Given the description of an element on the screen output the (x, y) to click on. 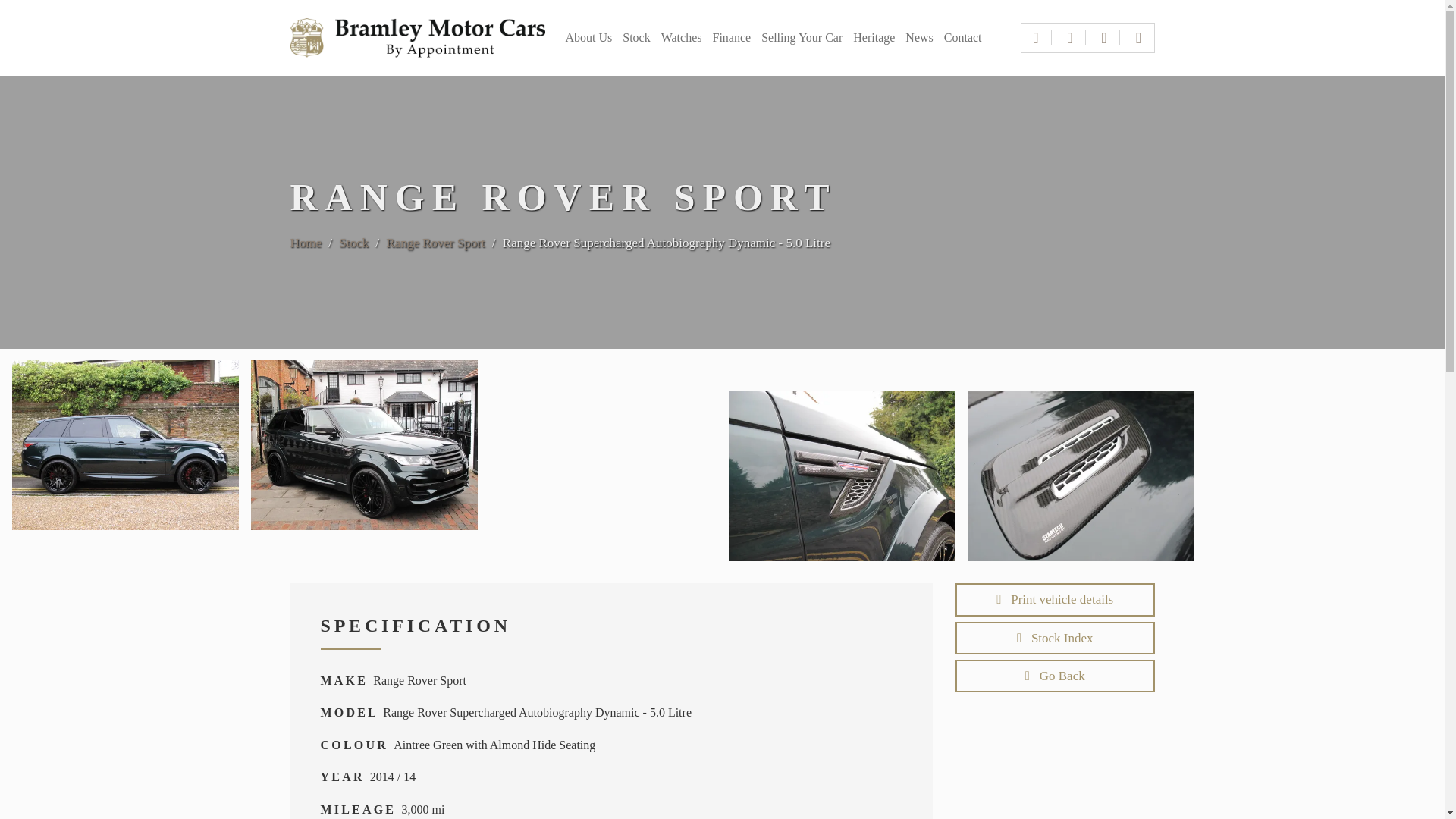
Heritage (874, 39)
Selling Your Car (802, 39)
Watches (681, 39)
Finance (731, 39)
About Us (587, 39)
News (919, 39)
Stock (636, 39)
